Given the description of an element on the screen output the (x, y) to click on. 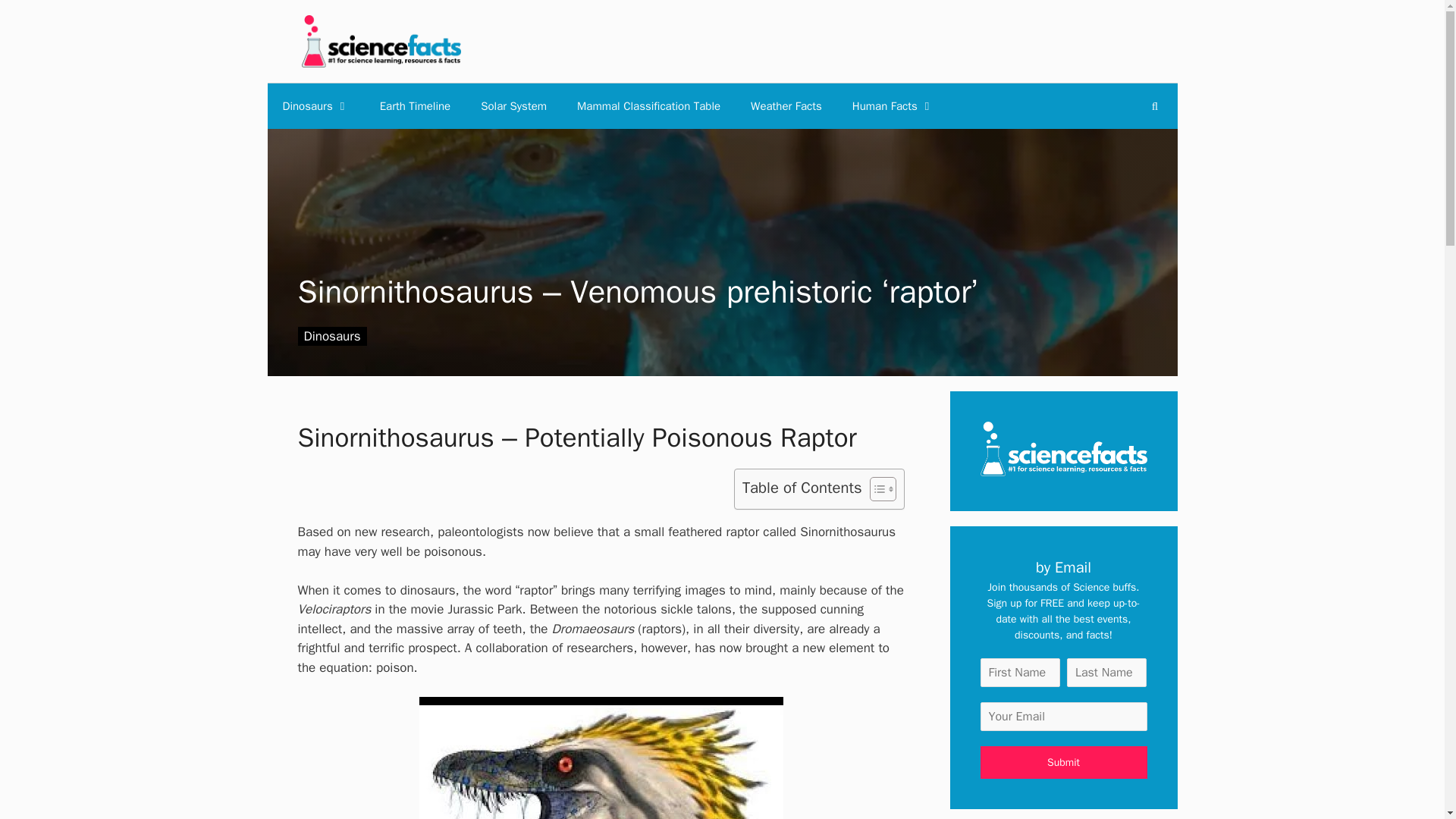
Solar System (513, 105)
Weather Facts (786, 105)
Human Facts (893, 105)
Submit (1063, 762)
Dinosaurs (331, 335)
Mammal Classification Table (648, 105)
Dinosaurs (315, 105)
Earth Timeline (415, 105)
